Given the description of an element on the screen output the (x, y) to click on. 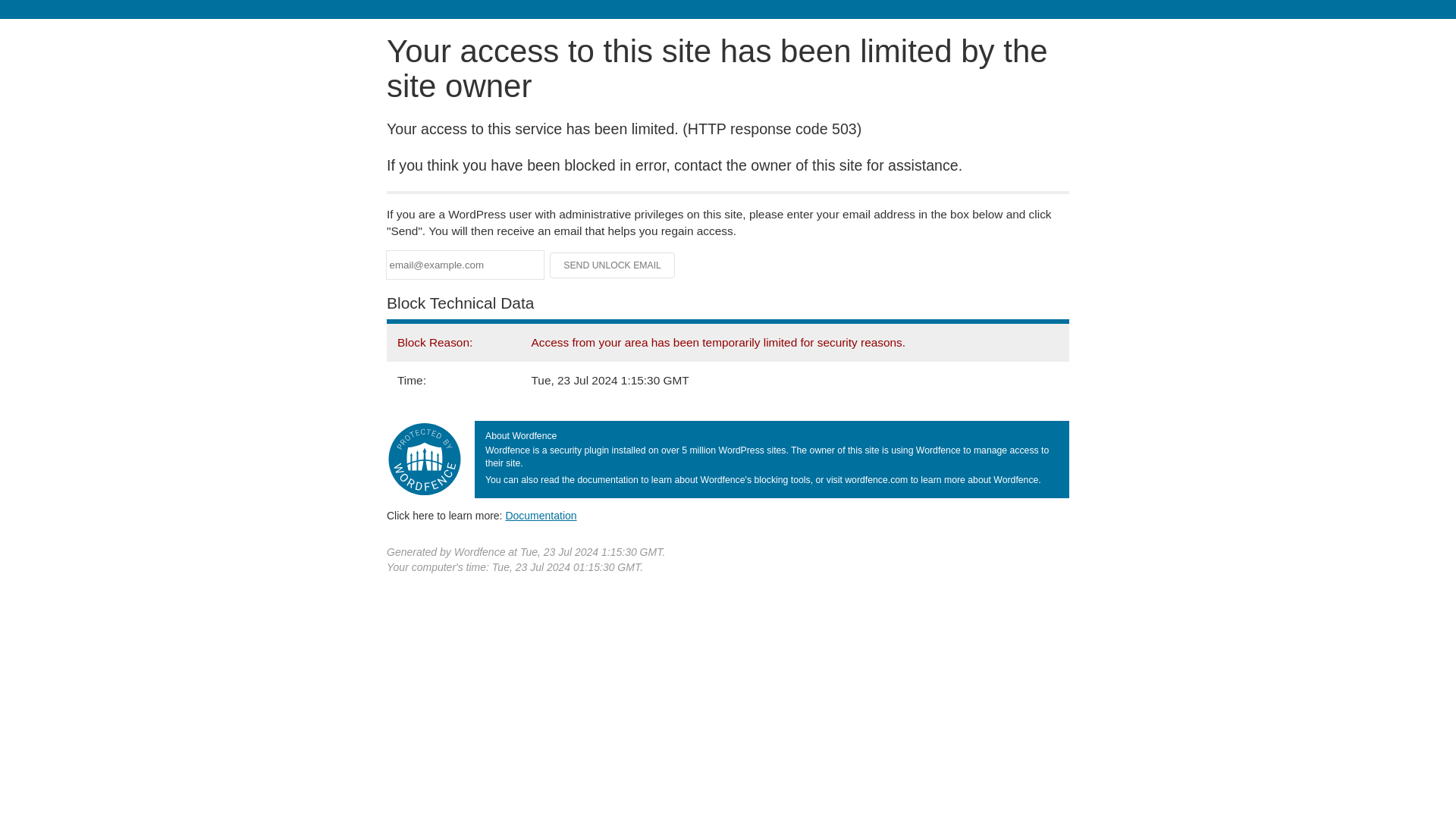
Send Unlock Email (612, 265)
Documentation (540, 515)
Send Unlock Email (612, 265)
